Given the description of an element on the screen output the (x, y) to click on. 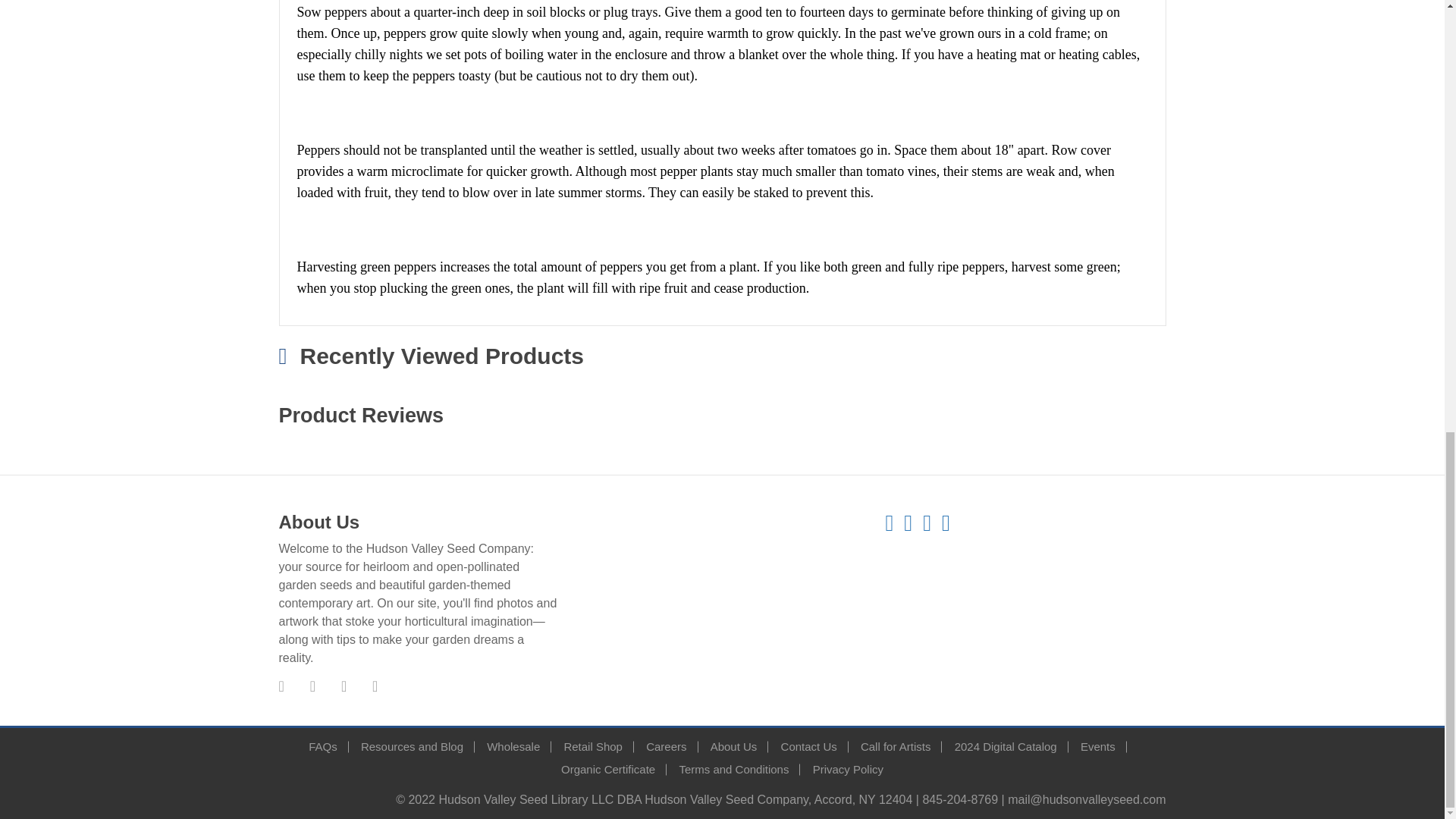
Hudson Valley Seed Company on Facebook (281, 685)
Hudson Valley Seed Company on Instagram (343, 685)
Hudson Valley Seed Company on YouTube (374, 685)
Hudson Valley Seed Company on Pinterest (312, 685)
